Given the description of an element on the screen output the (x, y) to click on. 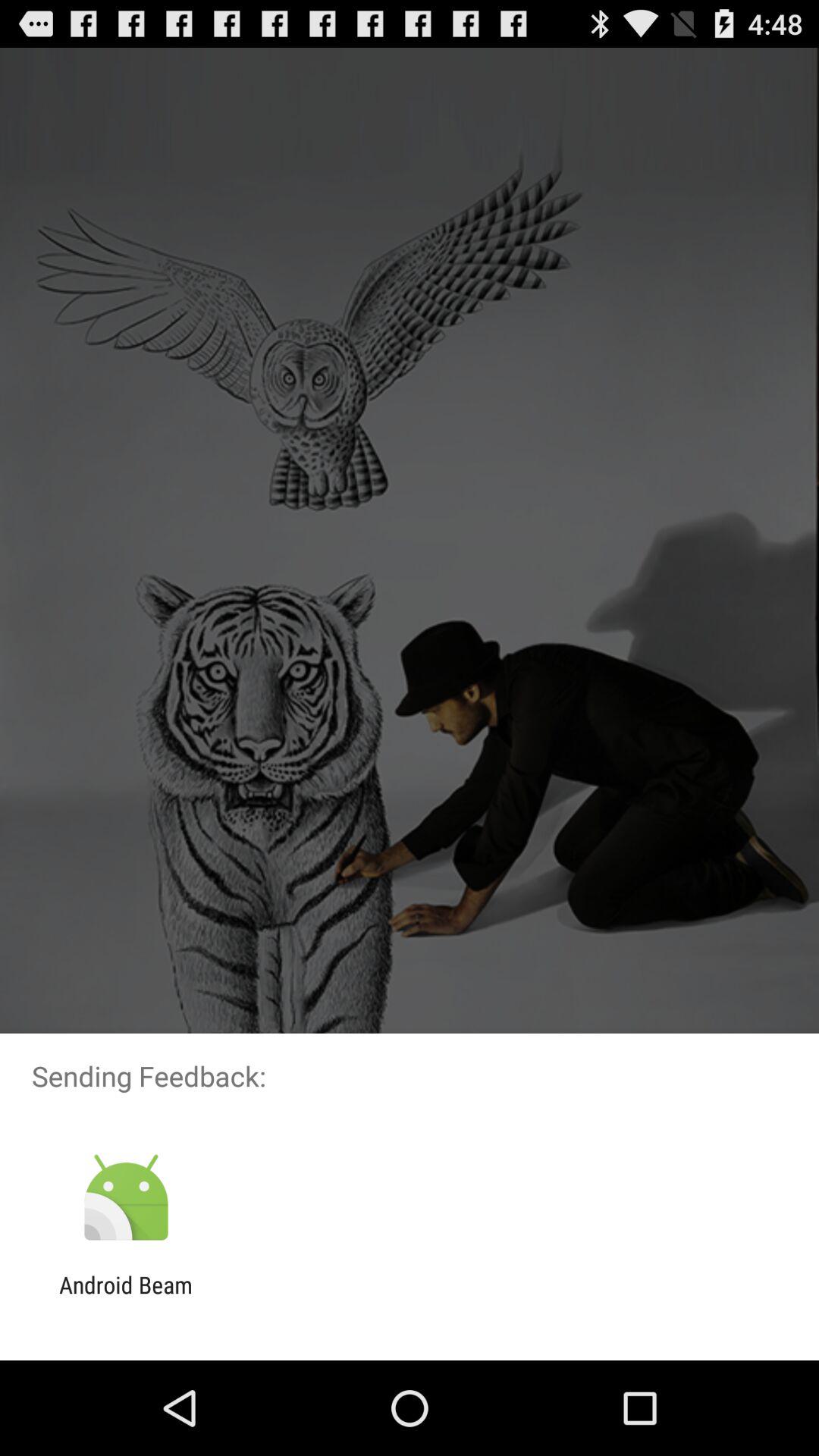
click icon above android beam app (126, 1198)
